Given the description of an element on the screen output the (x, y) to click on. 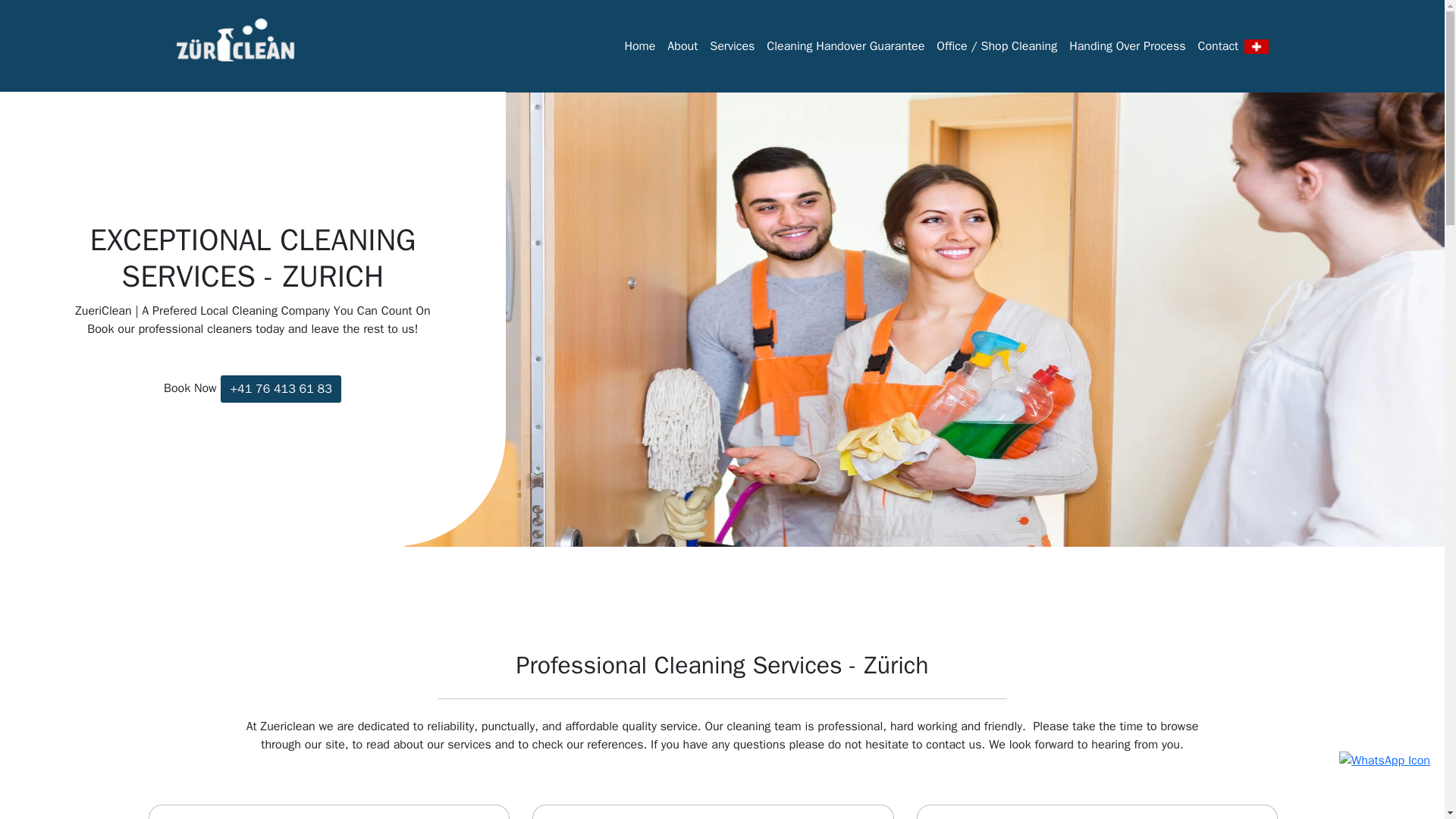
Home (639, 46)
About (682, 46)
